Given the description of an element on the screen output the (x, y) to click on. 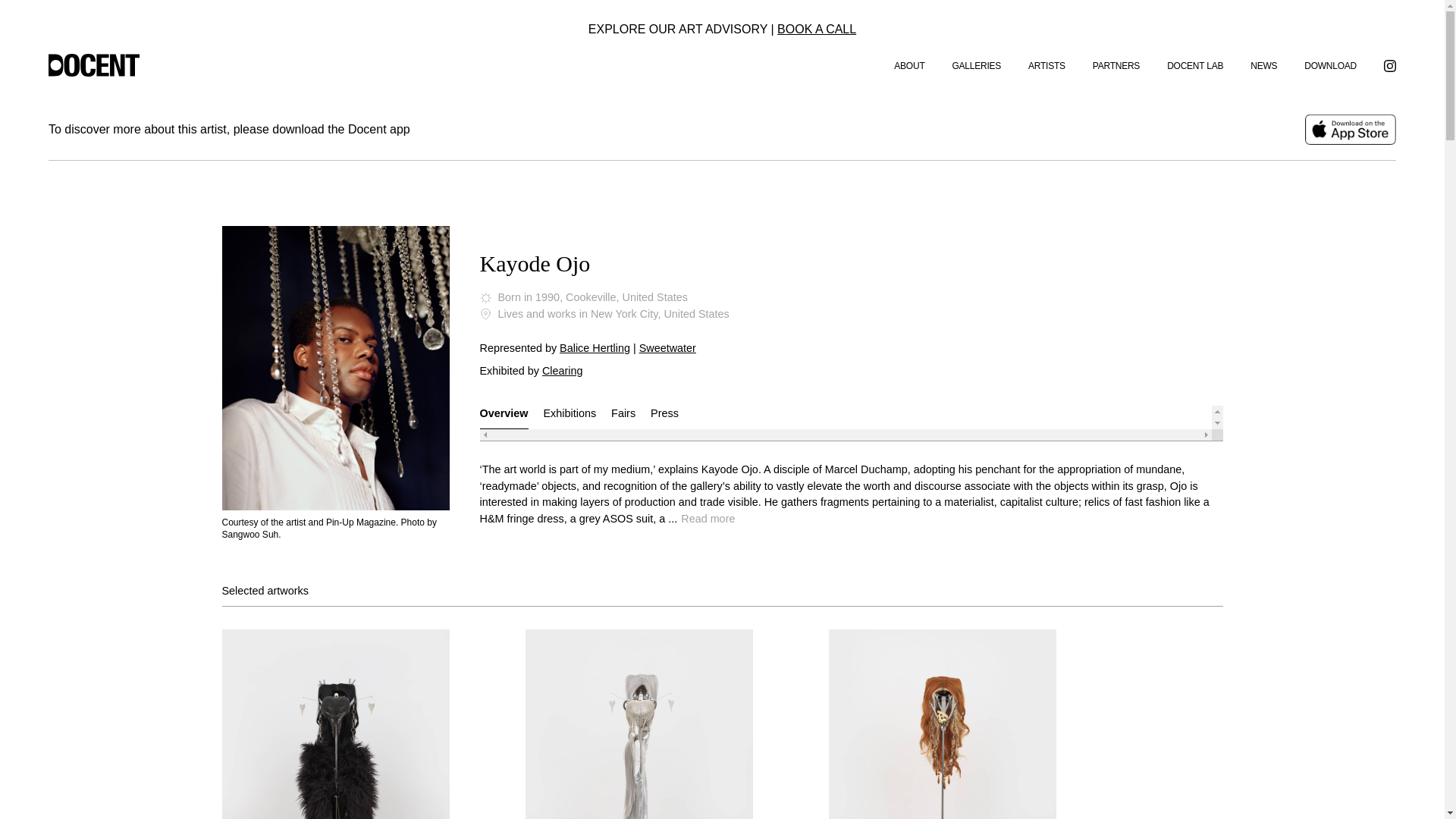
ABOUT (908, 65)
DOCENT LAB (1195, 65)
DOWNLOAD (1330, 65)
GALLERIES (976, 65)
PARTNERS (1116, 65)
Balice Hertling (594, 347)
NEWS (1263, 65)
Clearing (562, 370)
ARTISTS (1046, 65)
Sweetwater (667, 347)
